Given the description of an element on the screen output the (x, y) to click on. 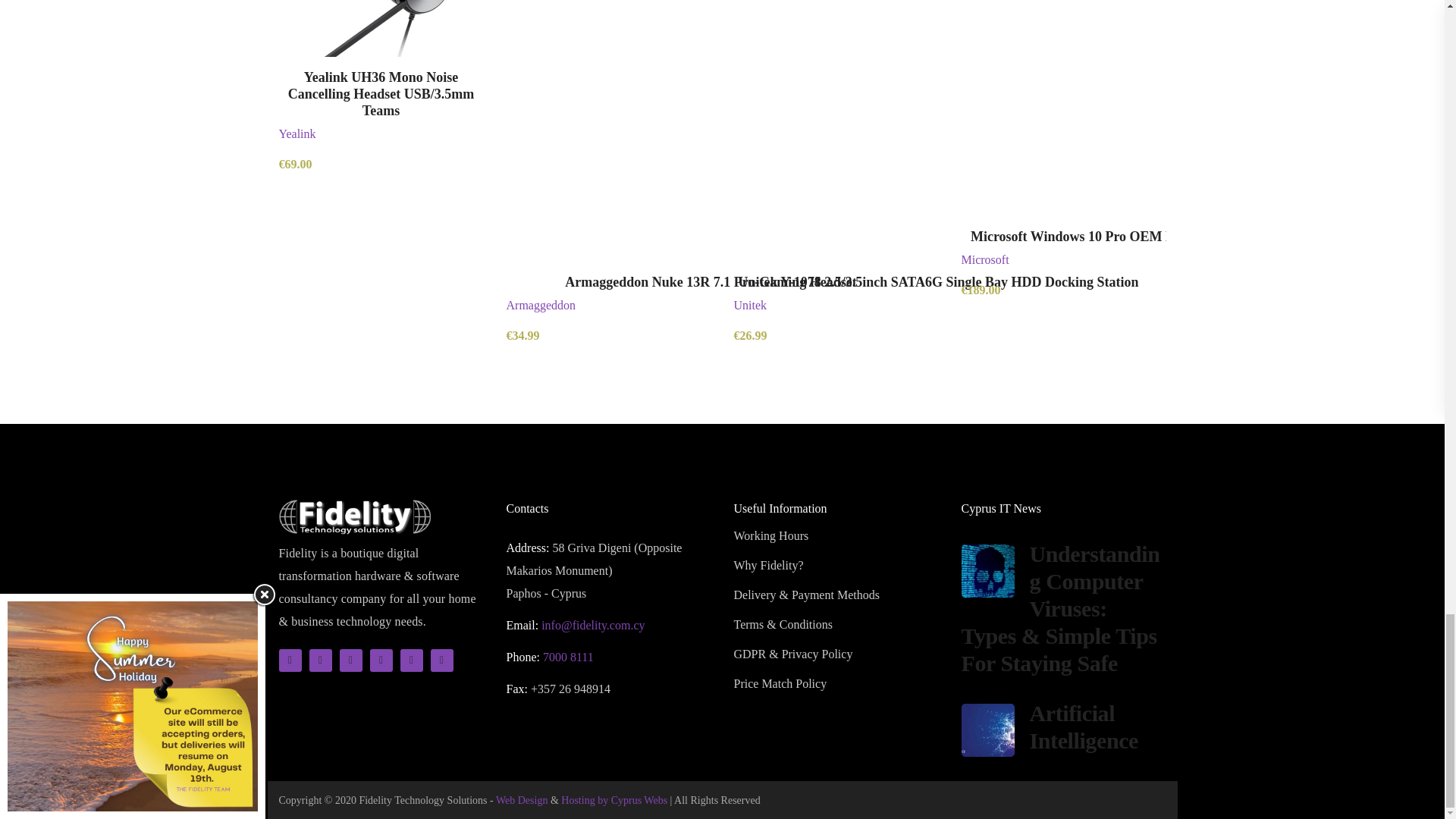
Instagram (381, 660)
pinterest (350, 660)
Facebook (319, 660)
Twitter (290, 660)
